Given the description of an element on the screen output the (x, y) to click on. 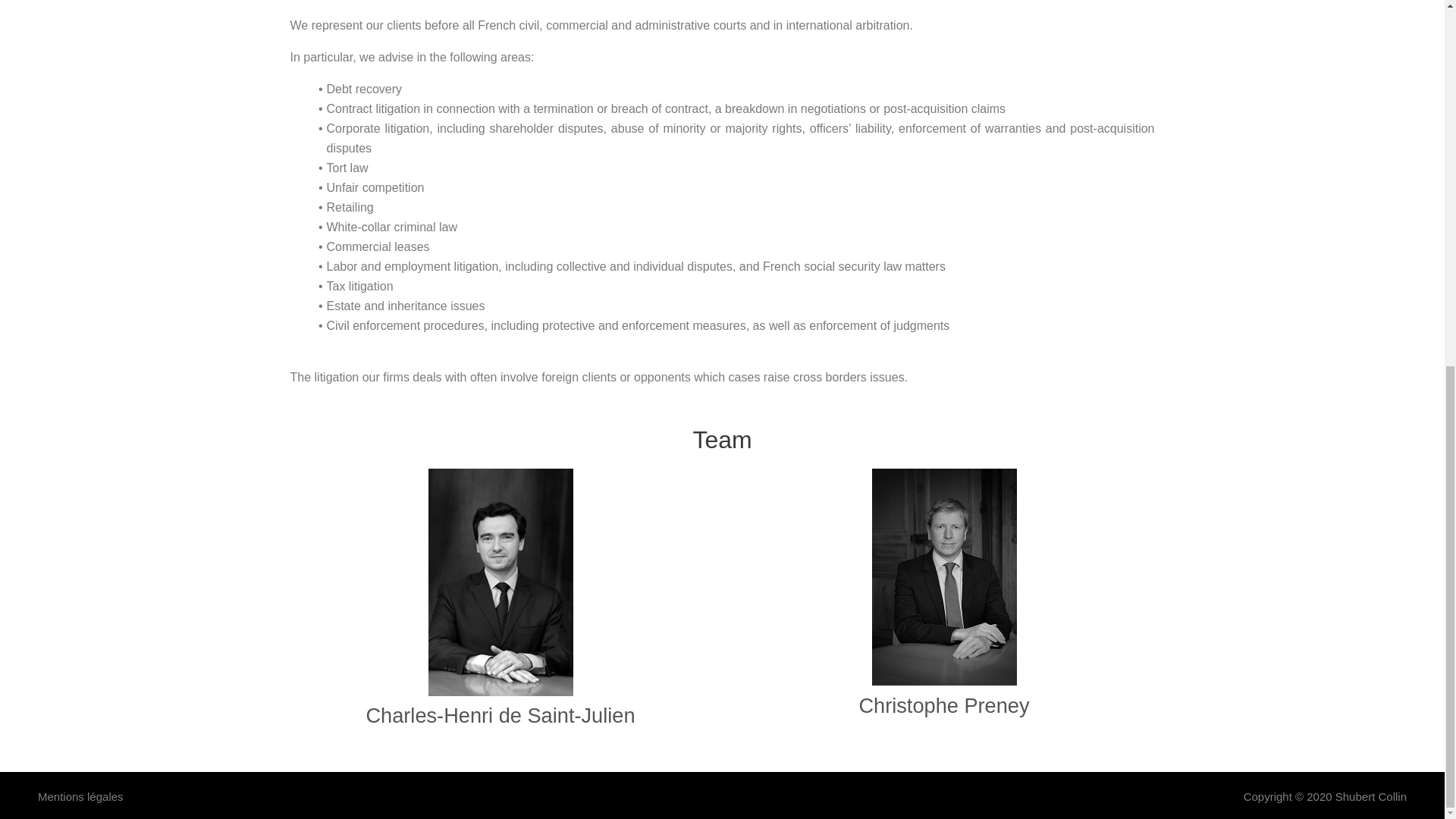
Christophe Preney (944, 705)
Charles-Henri de Saint-Julien (499, 715)
